Given the description of an element on the screen output the (x, y) to click on. 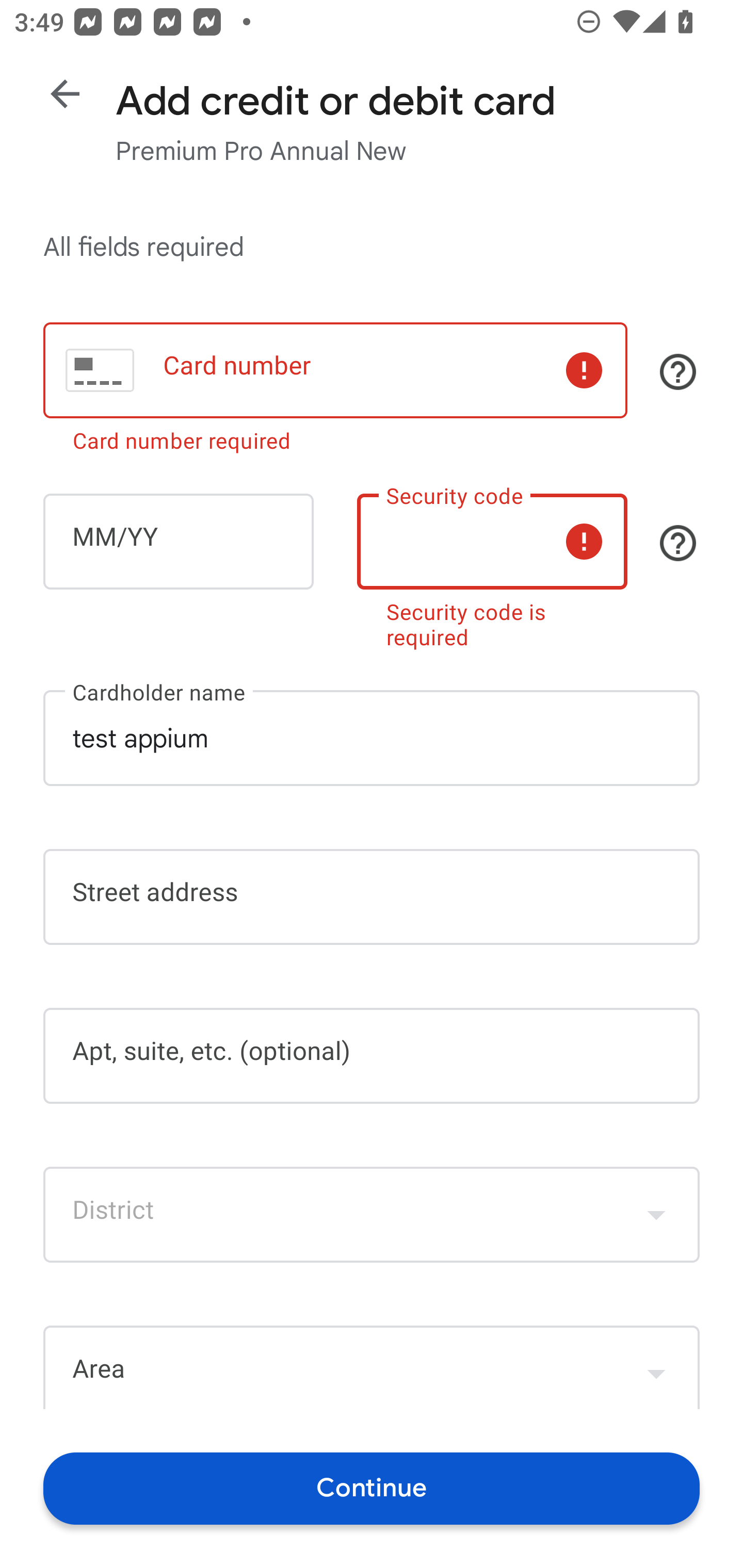
Back (64, 93)
Card number (335, 370)
Button, shows cards that are accepted for payment (677, 371)
Expiration date, 2 digit month, 2 digit year (178, 541)
Security code (492, 541)
Security code help (677, 543)
test appium (371, 737)
Street address (371, 896)
Apt, suite, etc. (optional) (371, 1055)
District (371, 1214)
Show dropdown menu (655, 1214)
Area (371, 1366)
Show dropdown menu (655, 1369)
Continue (371, 1487)
